Given the description of an element on the screen output the (x, y) to click on. 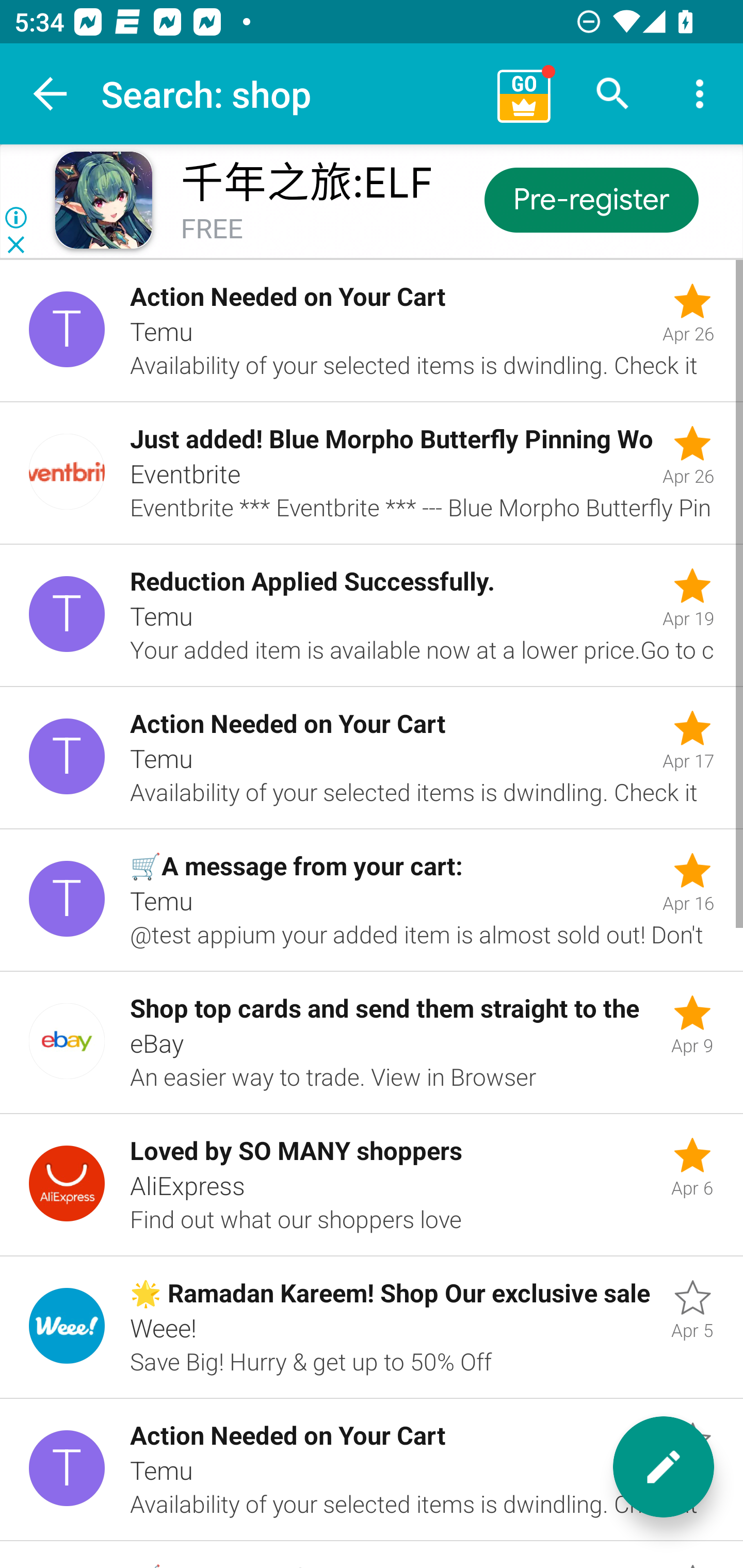
Navigate up (50, 93)
Search (612, 93)
More options (699, 93)
千年之旅:ELF (306, 183)
Pre-register (590, 199)
FREE (211, 230)
New message (663, 1466)
